Given the description of an element on the screen output the (x, y) to click on. 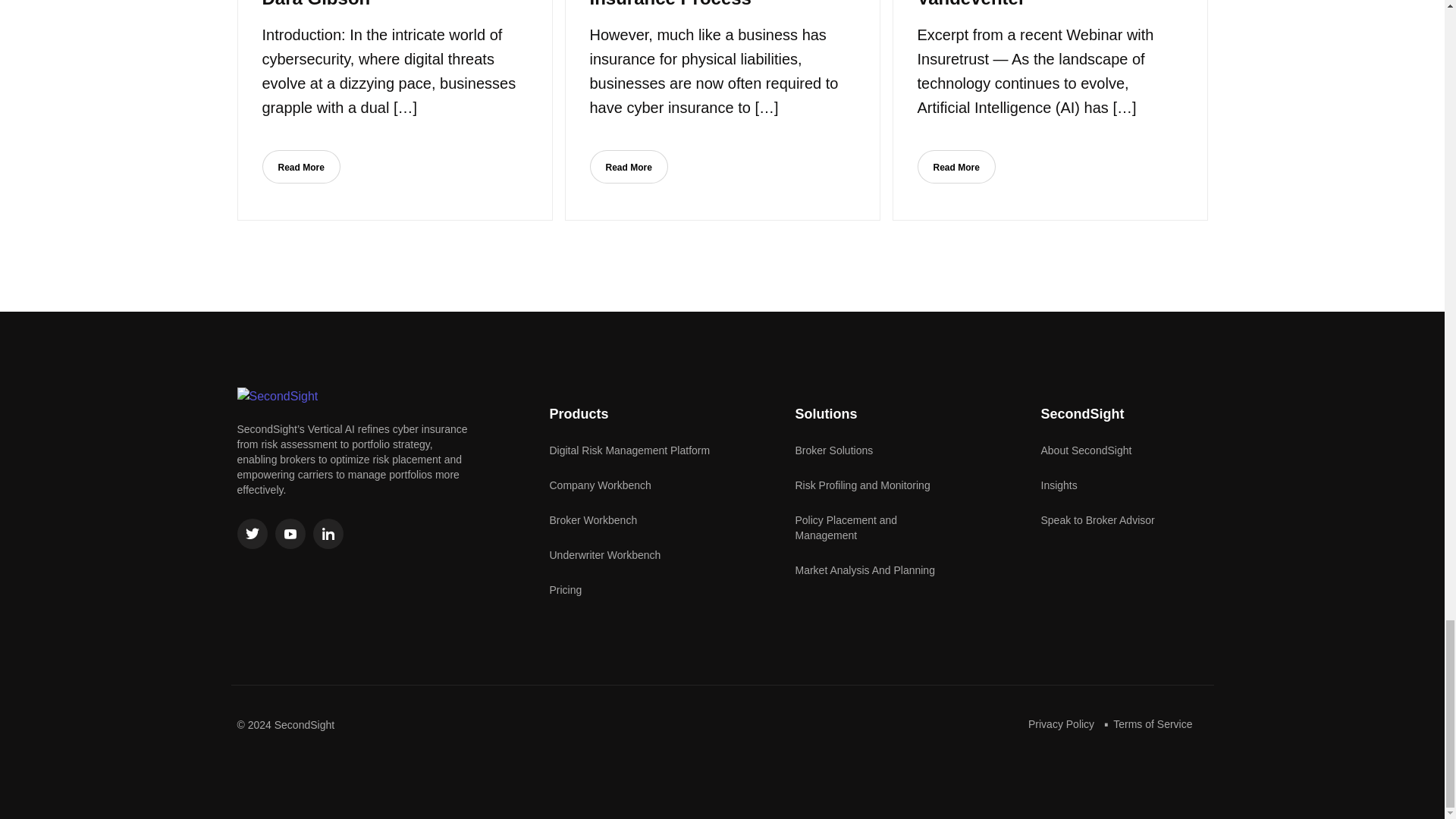
Read More (628, 166)
Read More (301, 166)
